Given the description of an element on the screen output the (x, y) to click on. 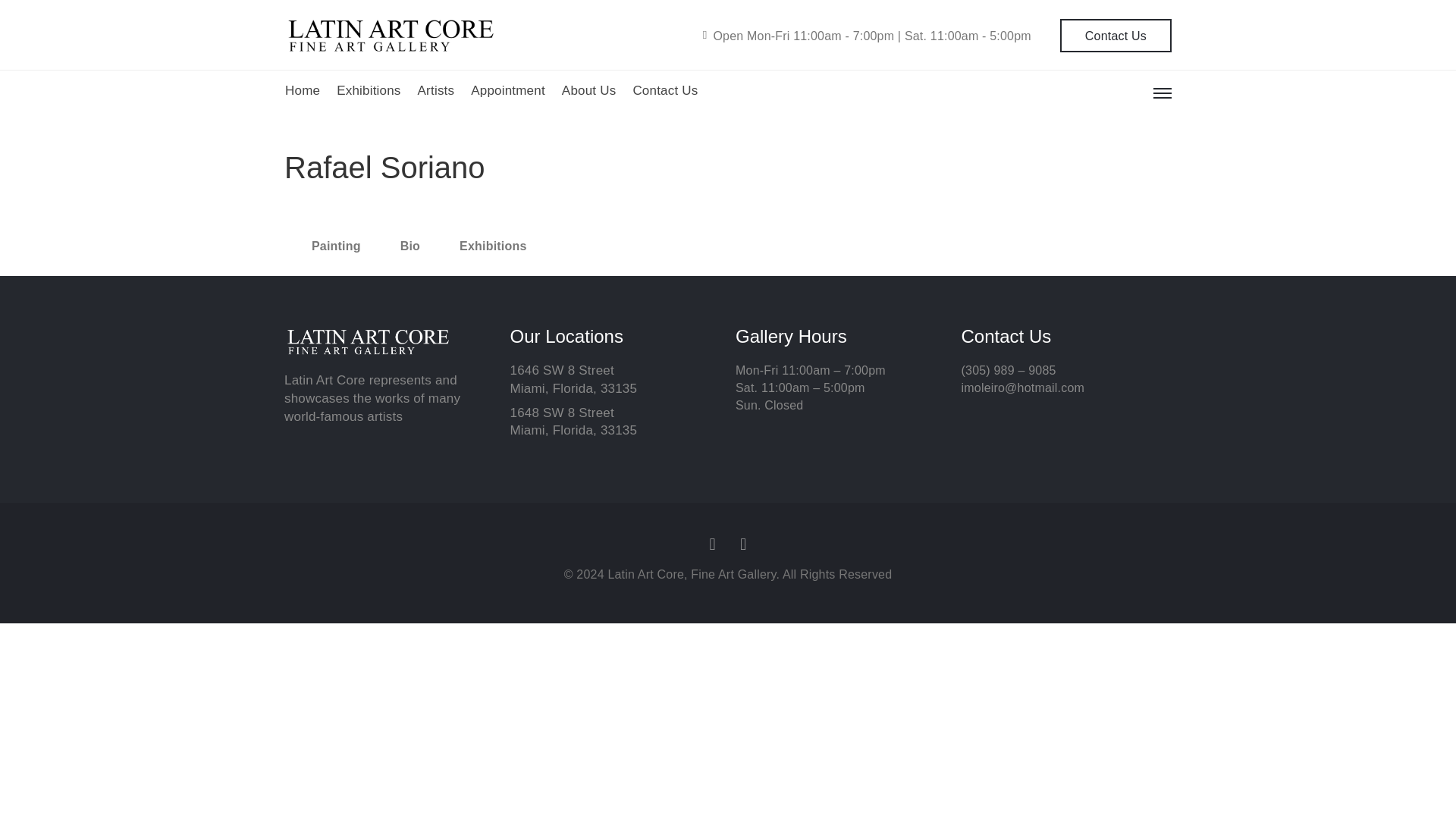
Exhibitions (368, 91)
Artists (435, 91)
Contact Us (664, 91)
About Us (588, 91)
Appointment (507, 91)
Contact Us (1115, 35)
